Given the description of an element on the screen output the (x, y) to click on. 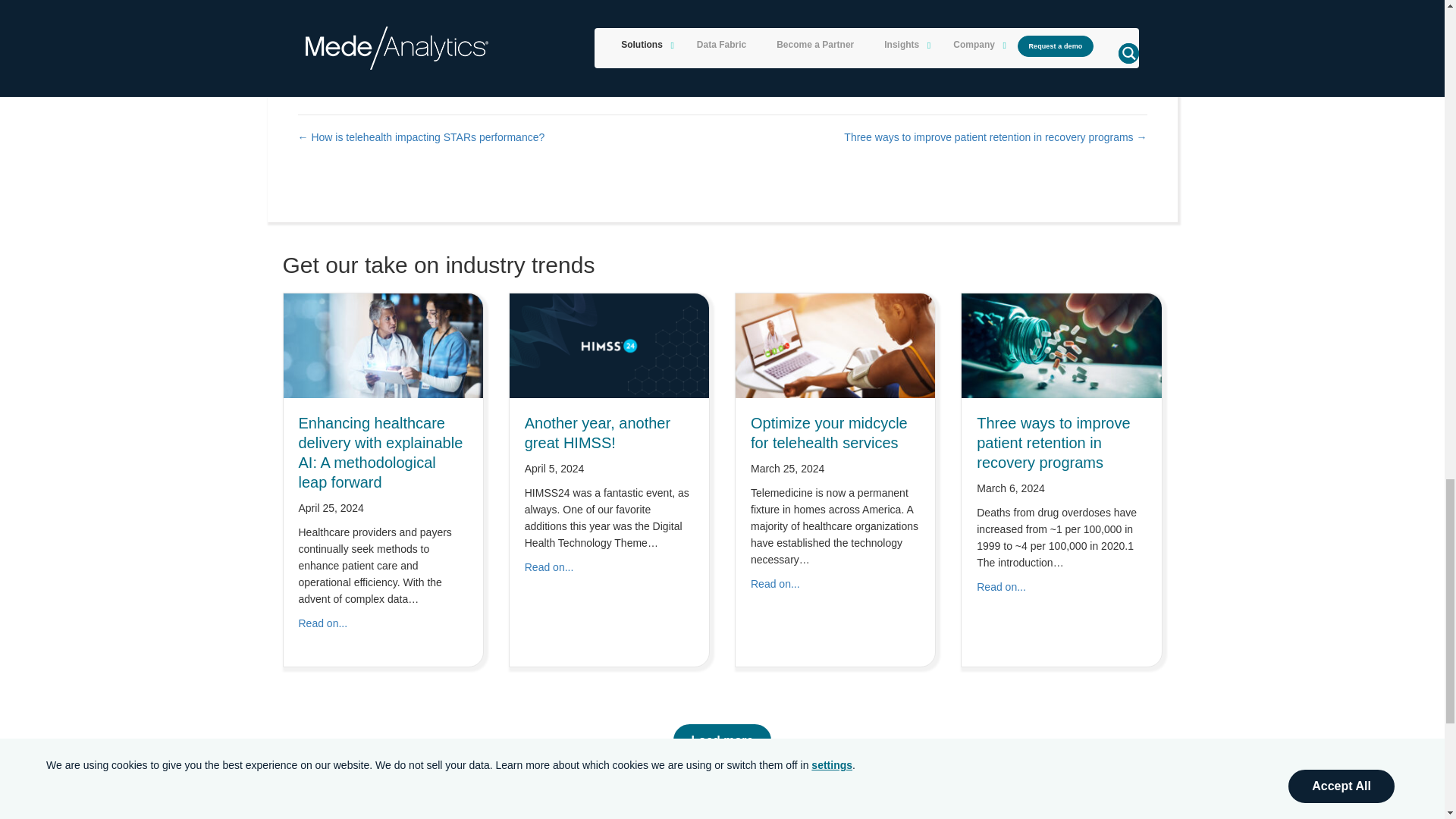
Optimize your midcycle for telehealth services (829, 432)
Optimize your midcycle for telehealth services (775, 583)
Another year, another great HIMSS! (548, 566)
Three ways to improve patient retention in recovery programs (1052, 442)
Optimize your midcycle for telehealth services (834, 345)
Another year, another great HIMSS! (596, 432)
Three ways to improve patient retention in recovery programs (1060, 345)
